Given the description of an element on the screen output the (x, y) to click on. 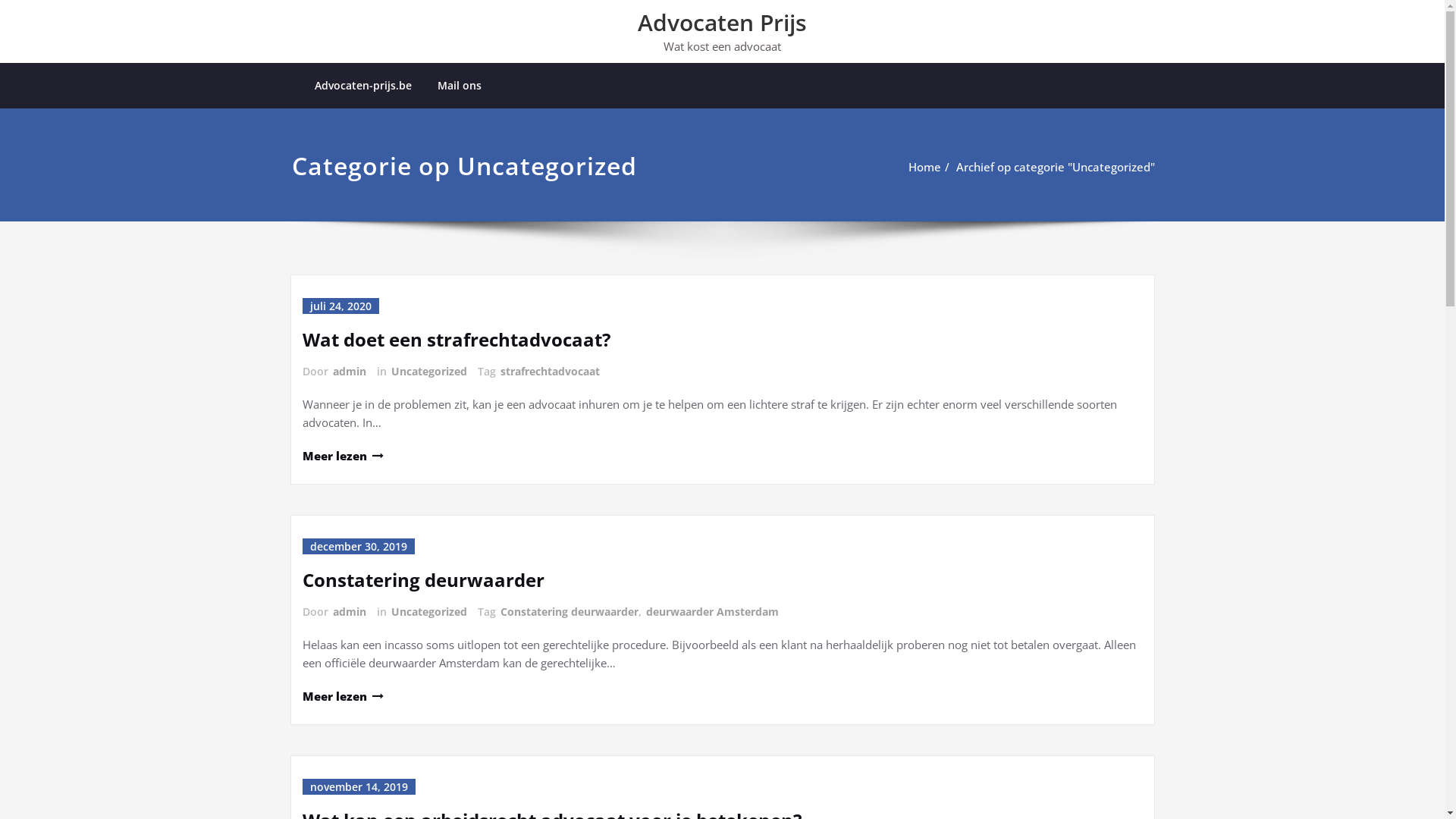
admin Element type: text (347, 611)
Uncategorized Element type: text (428, 371)
Skip to content Element type: text (0, 0)
deurwaarder Amsterdam Element type: text (711, 611)
strafrechtadvocaat Element type: text (548, 371)
Meer lezen Element type: text (341, 455)
december 30, 2019 Element type: text (357, 546)
Mail ons Element type: text (459, 85)
Home Element type: text (924, 166)
Constatering deurwaarder Element type: text (422, 579)
november 14, 2019 Element type: text (357, 786)
Advocaten-prijs.be Element type: text (362, 85)
admin Element type: text (347, 371)
Advocaten Prijs Element type: text (721, 21)
Wat doet een strafrechtadvocaat? Element type: text (455, 338)
Uncategorized Element type: text (428, 611)
Meer lezen Element type: text (341, 696)
juli 24, 2020 Element type: text (339, 305)
Archief op categorie "Uncategorized" Element type: text (1054, 166)
Constatering deurwaarder Element type: text (568, 611)
